Given the description of an element on the screen output the (x, y) to click on. 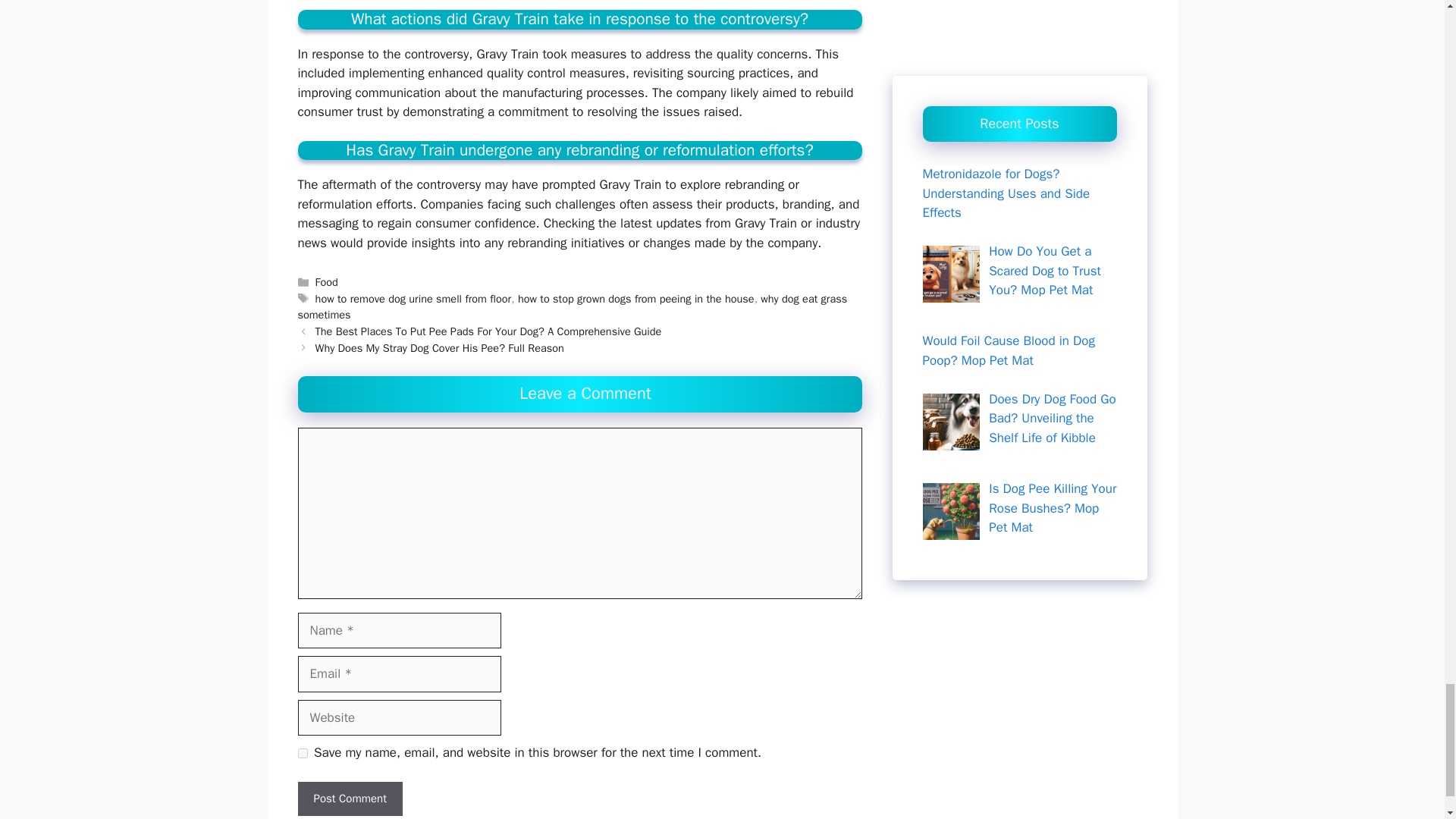
how to stop grown dogs from peeing in the house (636, 298)
why dog eat grass sometimes (572, 306)
how to remove dog urine smell from floor (413, 298)
Why Does My Stray Dog Cover His Pee? Full Reason (439, 347)
Food (326, 282)
yes (302, 753)
Post Comment (349, 798)
Post Comment (349, 798)
